Given the description of an element on the screen output the (x, y) to click on. 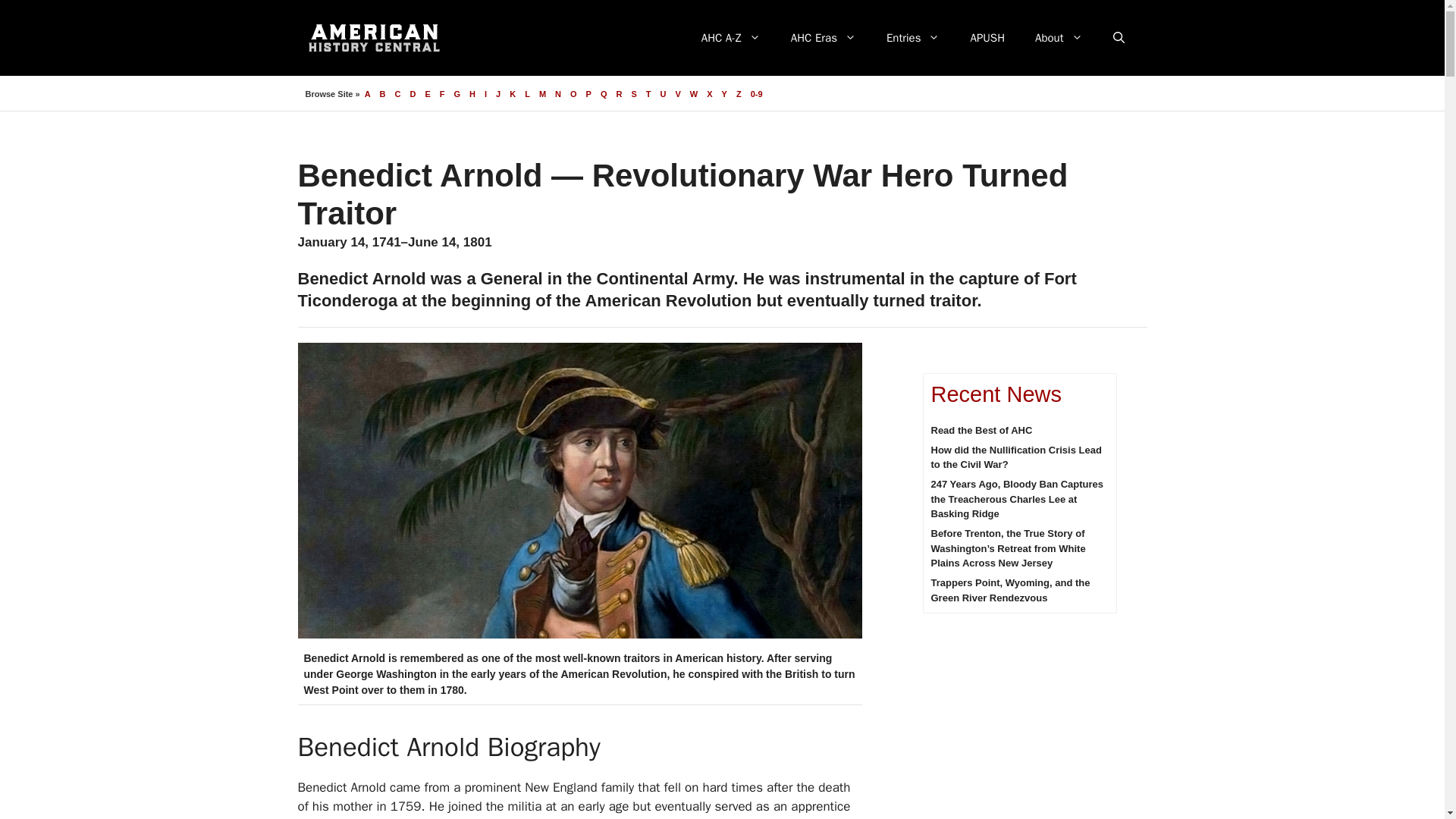
AHC A-Z (730, 37)
AHC Eras (823, 37)
